Given the description of an element on the screen output the (x, y) to click on. 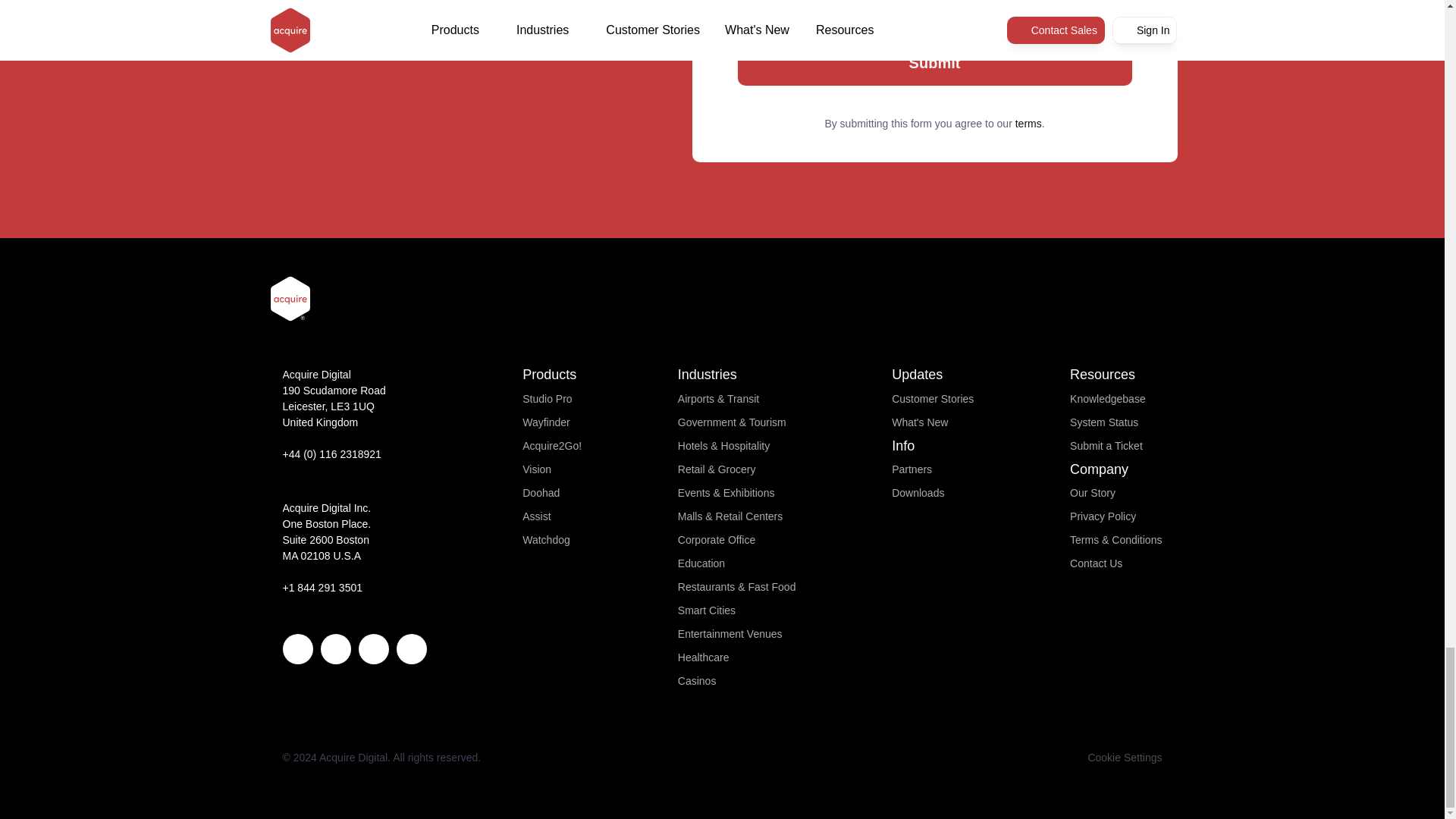
Watchdog (546, 539)
Studio Pro (547, 398)
Vision (536, 469)
Wayfinder (546, 422)
terms (1028, 123)
Submit (933, 62)
Acquire2Go! (551, 445)
Assist (536, 516)
Doohad (540, 492)
